Given the description of an element on the screen output the (x, y) to click on. 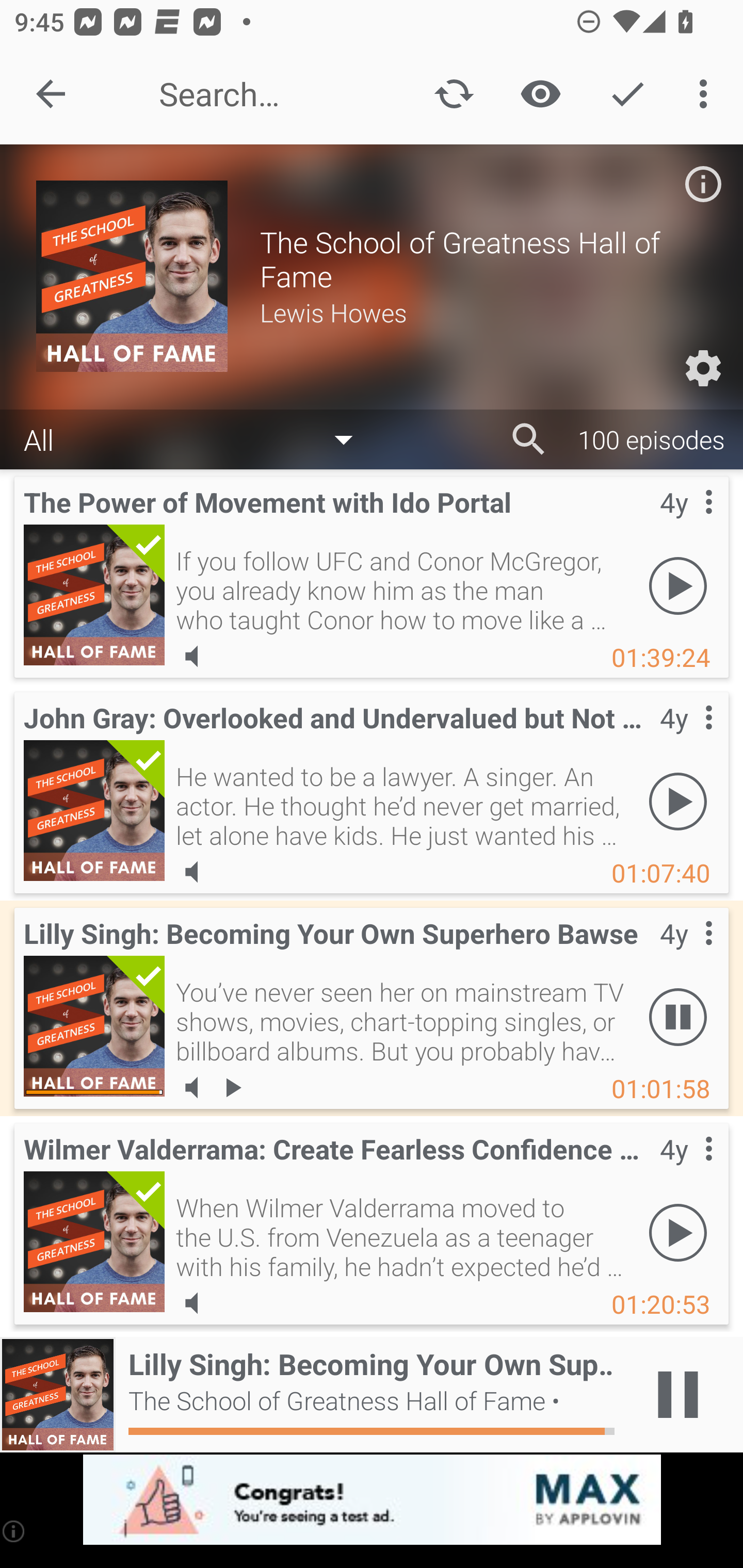
Collapse (50, 93)
Update (453, 93)
Show / Hide played content (540, 93)
Action Mode (626, 93)
More options (706, 93)
Search… (270, 94)
Podcast description (703, 184)
Lewis Howes (483, 311)
Custom Settings (703, 368)
Search (528, 439)
All (197, 438)
Contextual menu (685, 522)
The Power of Movement with Ido Portal (93, 594)
Play (677, 585)
Contextual menu (685, 738)
Play (677, 801)
Contextual menu (685, 954)
Lilly Singh: Becoming Your Own Superhero Bawse (93, 1026)
Pause (677, 1016)
Contextual menu (685, 1169)
Play (677, 1232)
Play / Pause (677, 1394)
app-monetization (371, 1500)
(i) (14, 1531)
